Given the description of an element on the screen output the (x, y) to click on. 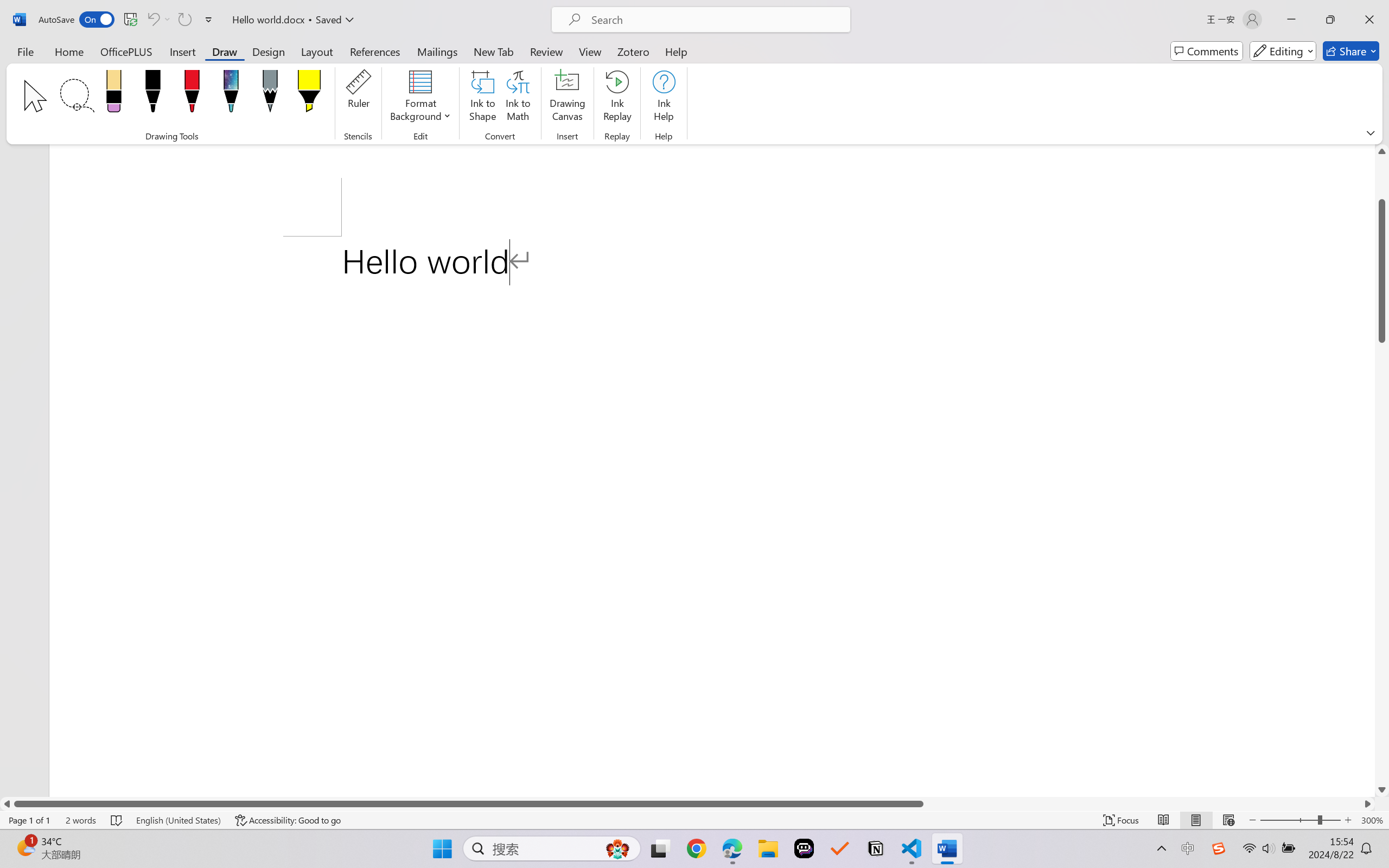
Save (130, 19)
Customize Quick Access Toolbar (208, 19)
Mode (1283, 50)
View (589, 51)
Pen: Galaxy, 1 mm (230, 94)
Web Layout (1228, 819)
Microsoft search (715, 19)
Pencil: Gray, 1 mm (270, 94)
Comments (1206, 50)
Insert (182, 51)
Can't Undo (152, 19)
Pen: Red, 0.5 mm (191, 94)
Print Layout (1196, 819)
Ribbon Display Options (1370, 132)
Page 1 content (711, 516)
